Given the description of an element on the screen output the (x, y) to click on. 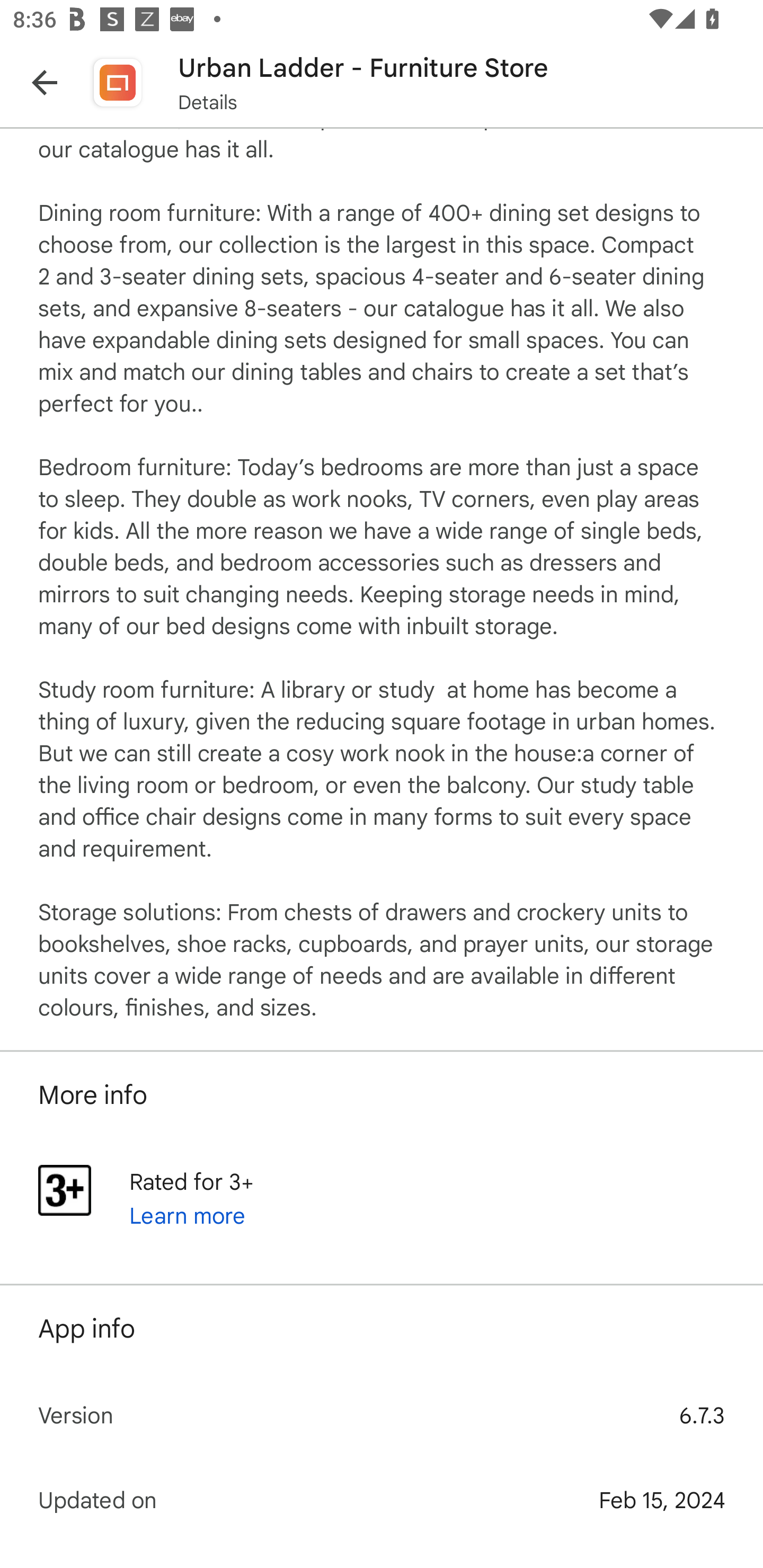
Navigate up (44, 82)
